Given the description of an element on the screen output the (x, y) to click on. 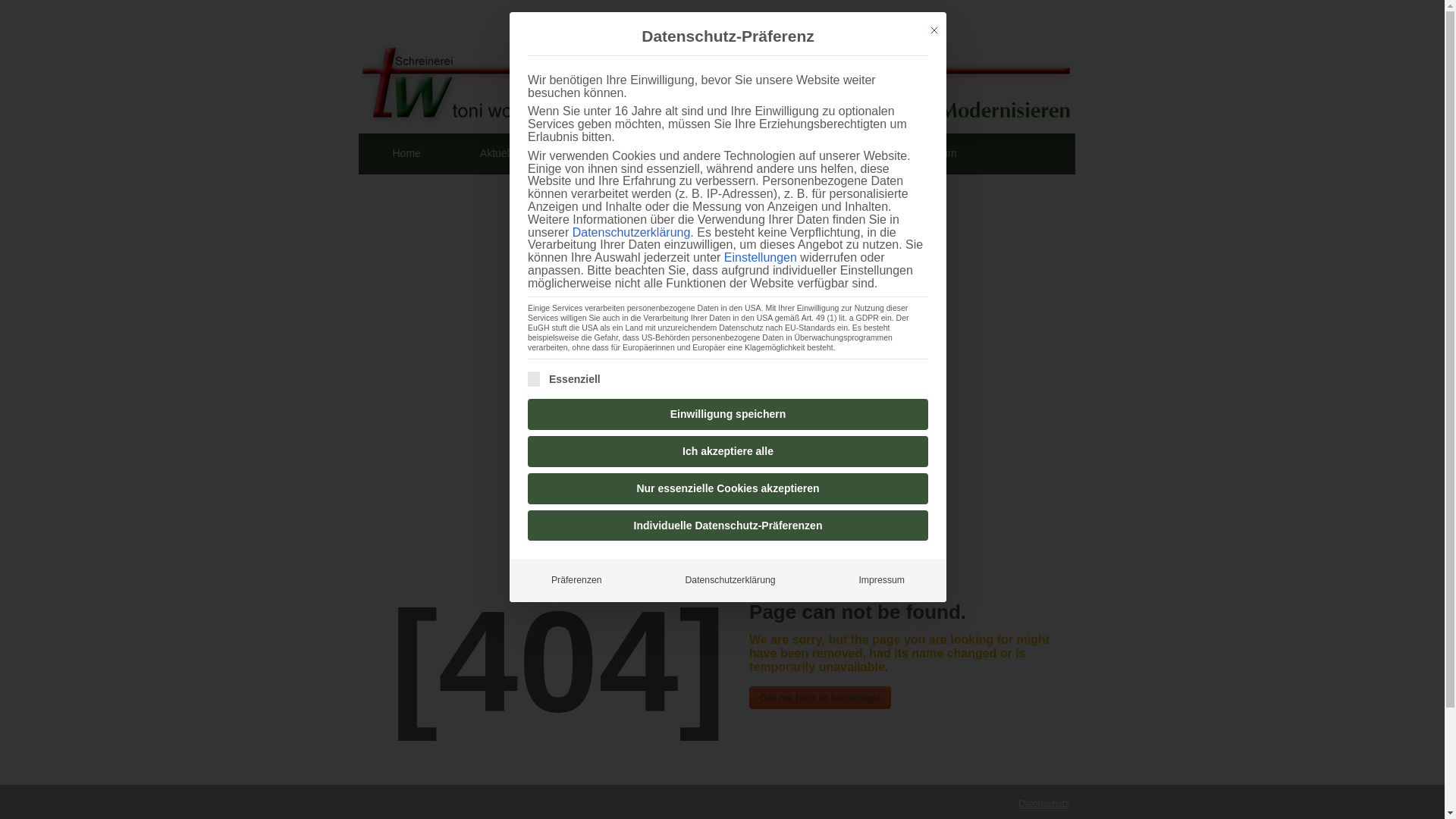
Kontakt (826, 153)
search (1034, 173)
Aktuelles (501, 153)
Home (406, 153)
Einwilligung speichern (727, 413)
Einstellungen (759, 256)
Impressum (930, 153)
Nur essenzielle Cookies akzeptieren (727, 488)
search (1034, 173)
Get me back to homepage! (820, 697)
